Given the description of an element on the screen output the (x, y) to click on. 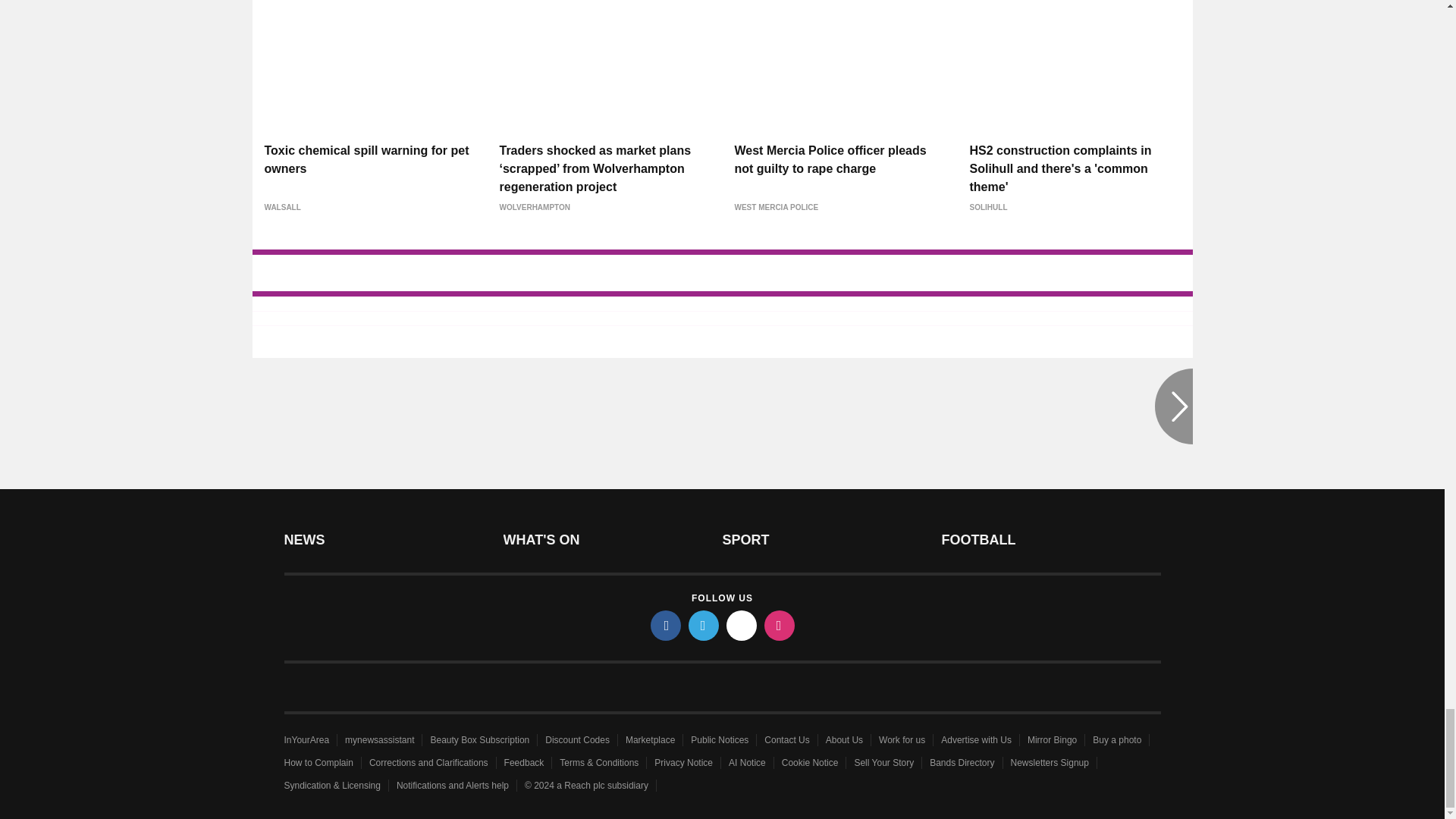
tiktok (741, 625)
instagram (779, 625)
twitter (703, 625)
facebook (665, 625)
